Given the description of an element on the screen output the (x, y) to click on. 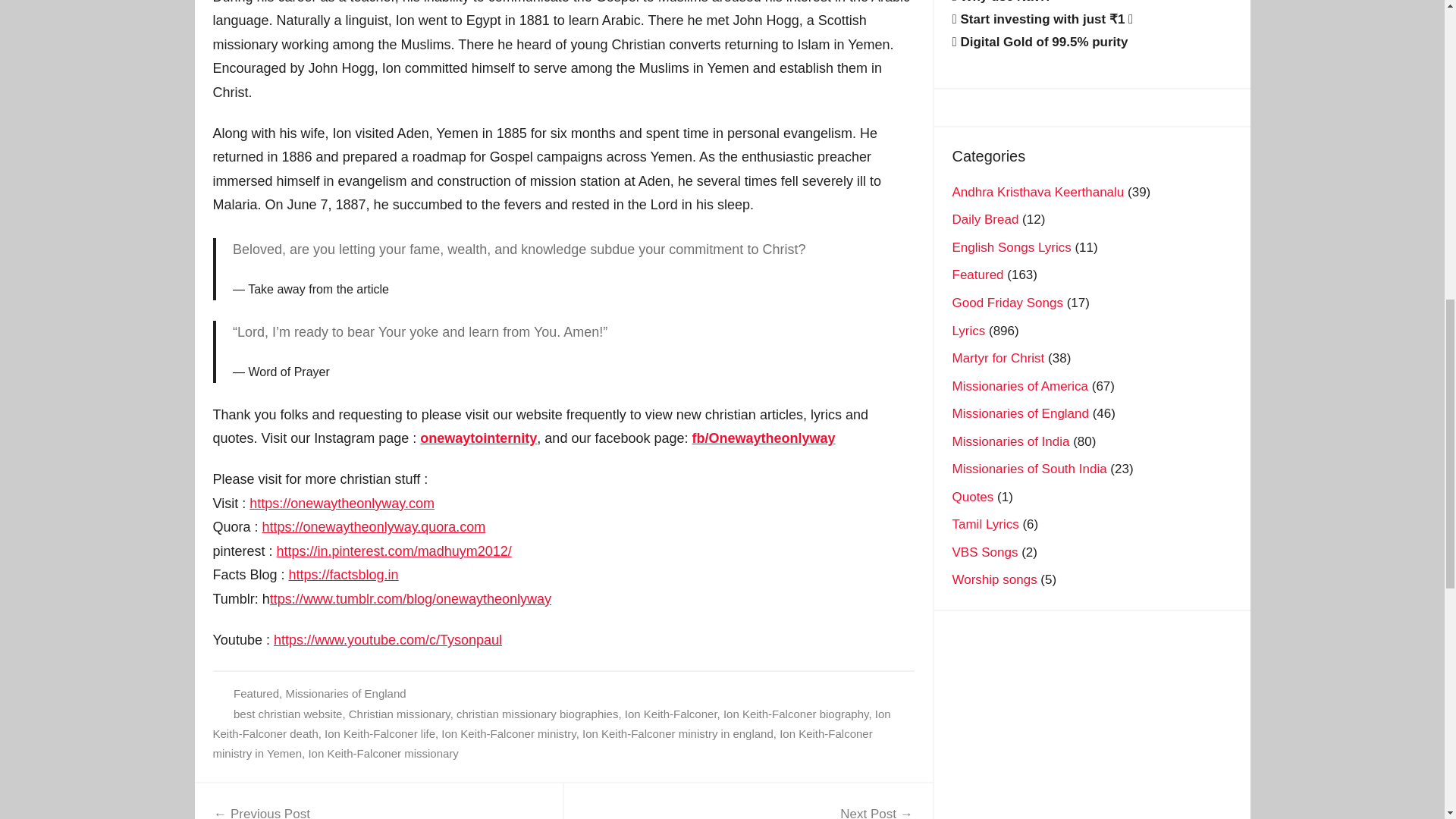
Ion Keith-Falconer missionary (382, 753)
best christian website (287, 713)
Andhra Kristhava Keerthanalu (1038, 192)
christian missionary biographies (537, 713)
Ion Keith-Falconer ministry in england (677, 733)
Ion Keith-Falconer biography (748, 811)
onewaytointernity (796, 713)
Ion Keith-Falconer death (478, 437)
Christian missionary (550, 723)
Featured (399, 713)
Missionaries of England (255, 693)
Ion Keith-Falconer ministry (345, 693)
Ion Keith-Falconer life (508, 733)
Ion Keith-Falconer (379, 733)
